Given the description of an element on the screen output the (x, y) to click on. 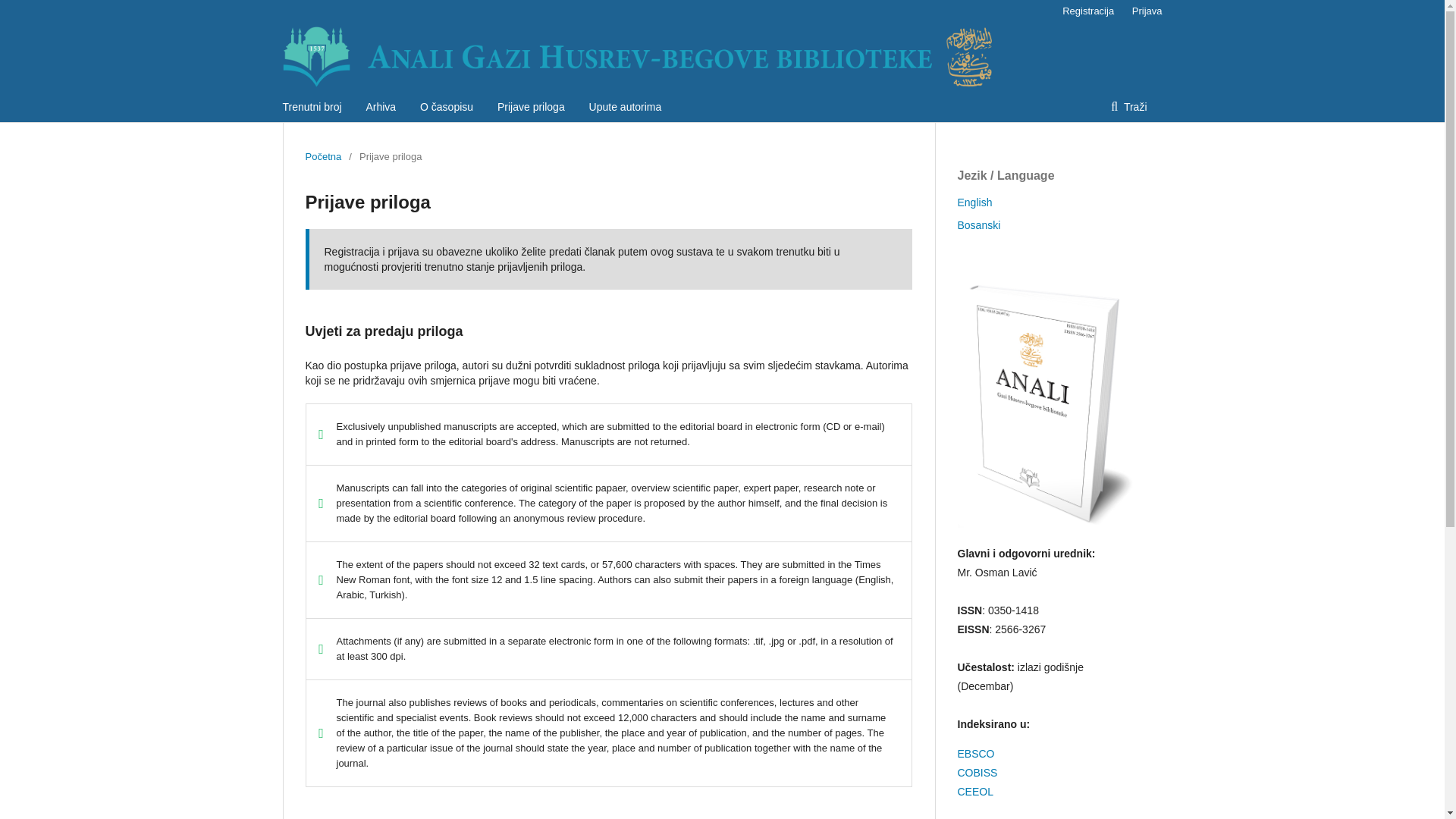
Registracija (1087, 11)
Prijave priloga (530, 106)
Bosanski (978, 224)
EBSCO (975, 753)
Upute autorima (625, 106)
CEEOL (974, 791)
Trenutni broj (311, 106)
Arhiva (380, 106)
COBISS (976, 772)
English (973, 202)
Prijava (1142, 11)
